Given the description of an element on the screen output the (x, y) to click on. 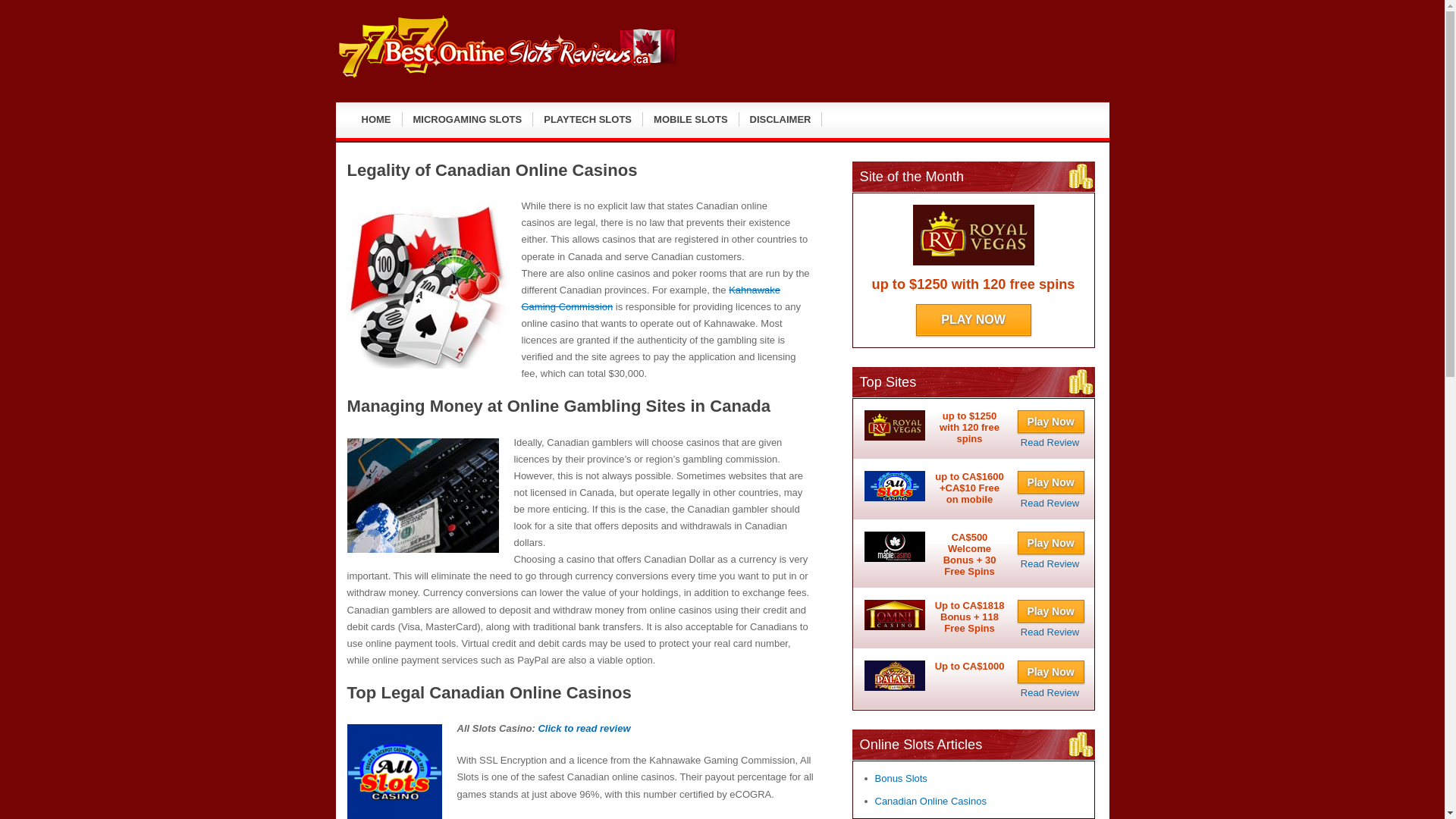
Spin Palace Casino (1049, 692)
Play Now (1050, 542)
Play Now (1050, 481)
Kahnawake Gaming Commission (650, 298)
All Slots Casino (1049, 502)
Read Review (1049, 692)
DISCLAIMER (780, 119)
Maple Online Casino (1049, 563)
Play Now (1050, 610)
Bonus Slots (901, 778)
HOME (375, 119)
bestonlineslotsreviews.ca (505, 77)
PLAY NOW (972, 319)
Play Now (1050, 421)
MOBILE SLOTS (691, 119)
